Given the description of an element on the screen output the (x, y) to click on. 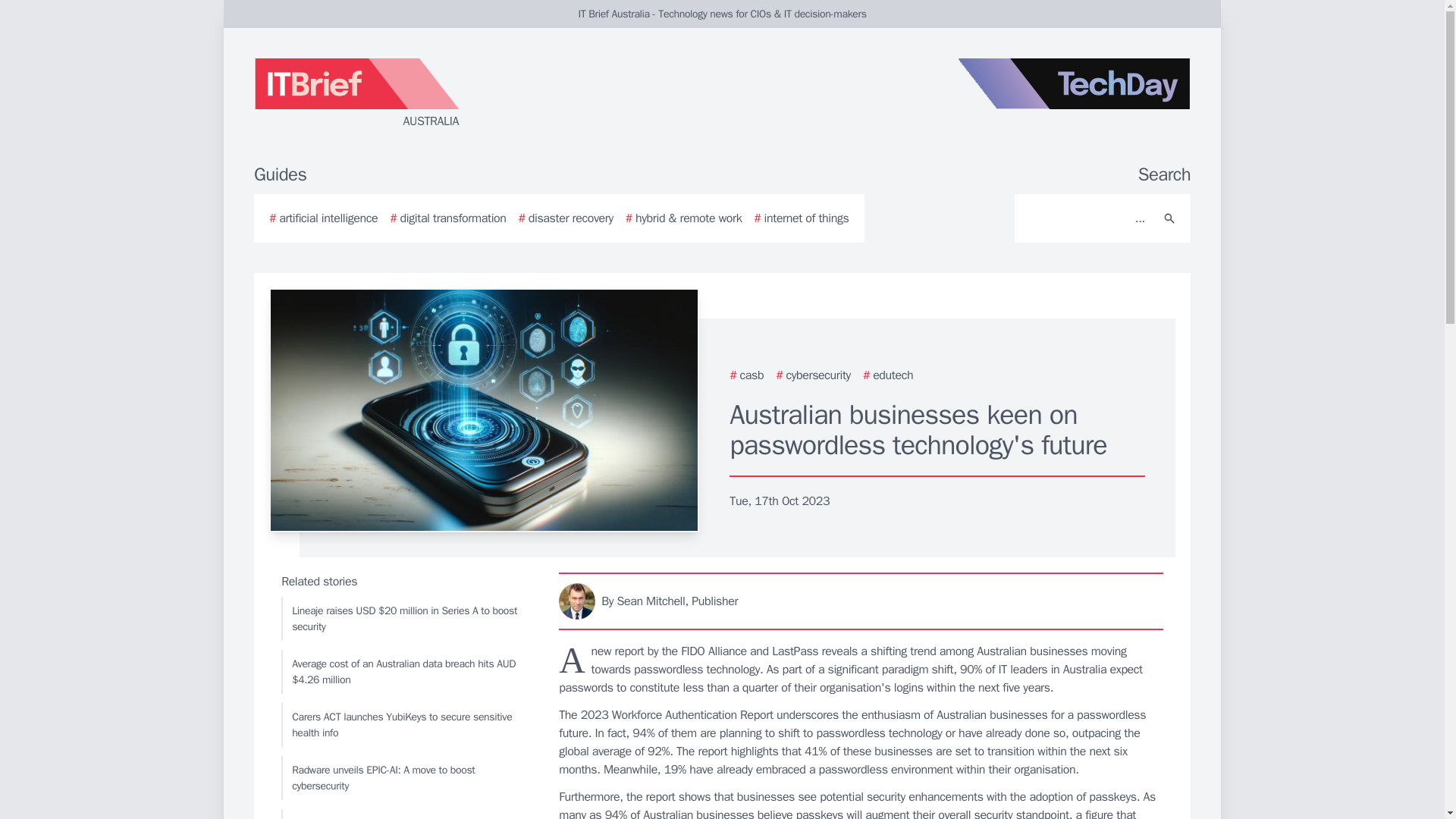
By Sean Mitchell, Publisher (861, 601)
WatchGuard adds key executives to bolster global leadership (406, 814)
Carers ACT launches YubiKeys to secure sensitive health info (406, 724)
AUSTRALIA (435, 94)
Radware unveils EPIC-AI: A move to boost cybersecurity (406, 777)
